Given the description of an element on the screen output the (x, y) to click on. 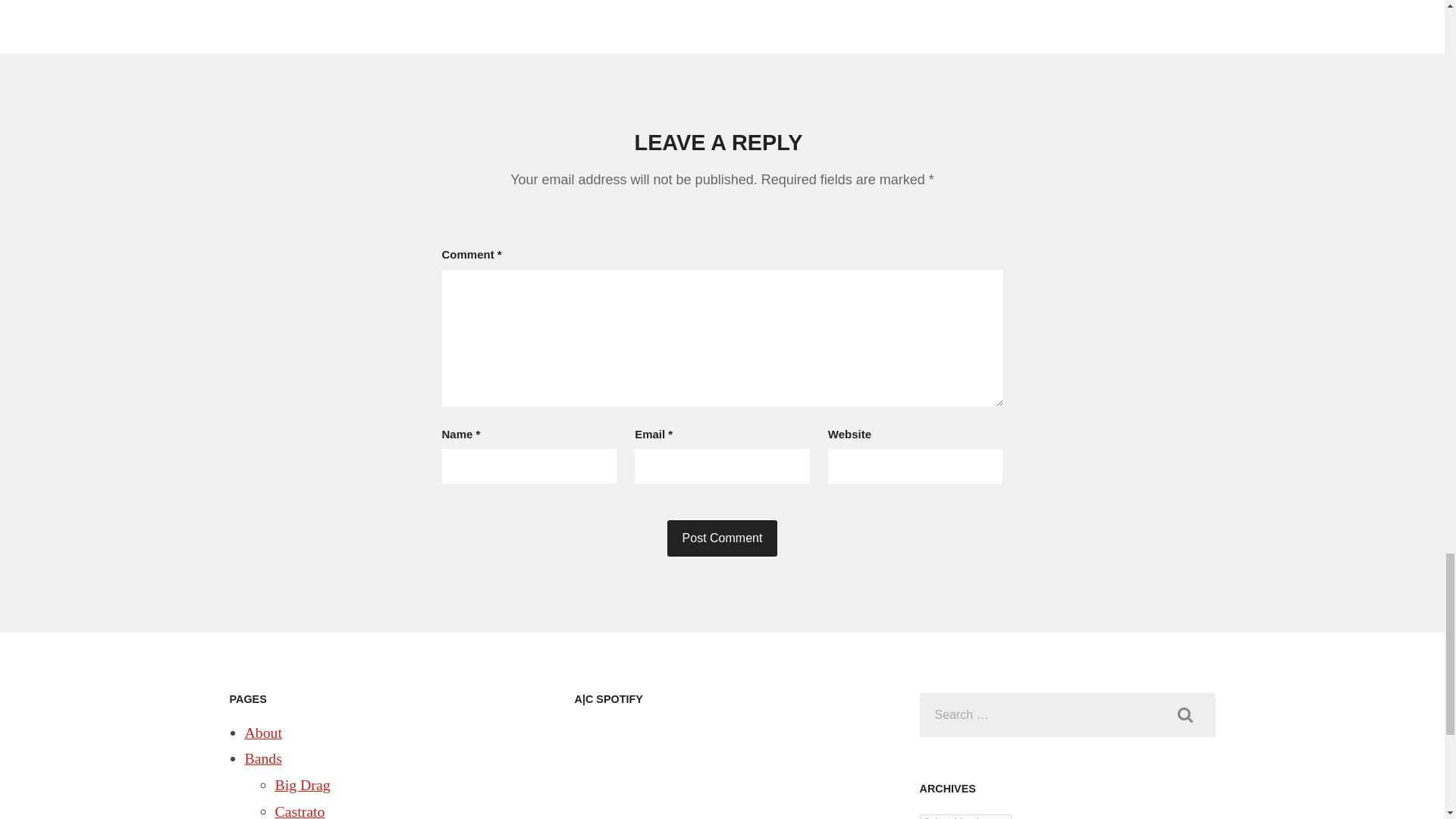
Bands (262, 758)
Big Drag (302, 784)
About (262, 732)
Search (1184, 715)
Search (1184, 715)
Search (1184, 715)
Post Comment (721, 538)
Castrato (299, 811)
Post Comment (721, 538)
